Given the description of an element on the screen output the (x, y) to click on. 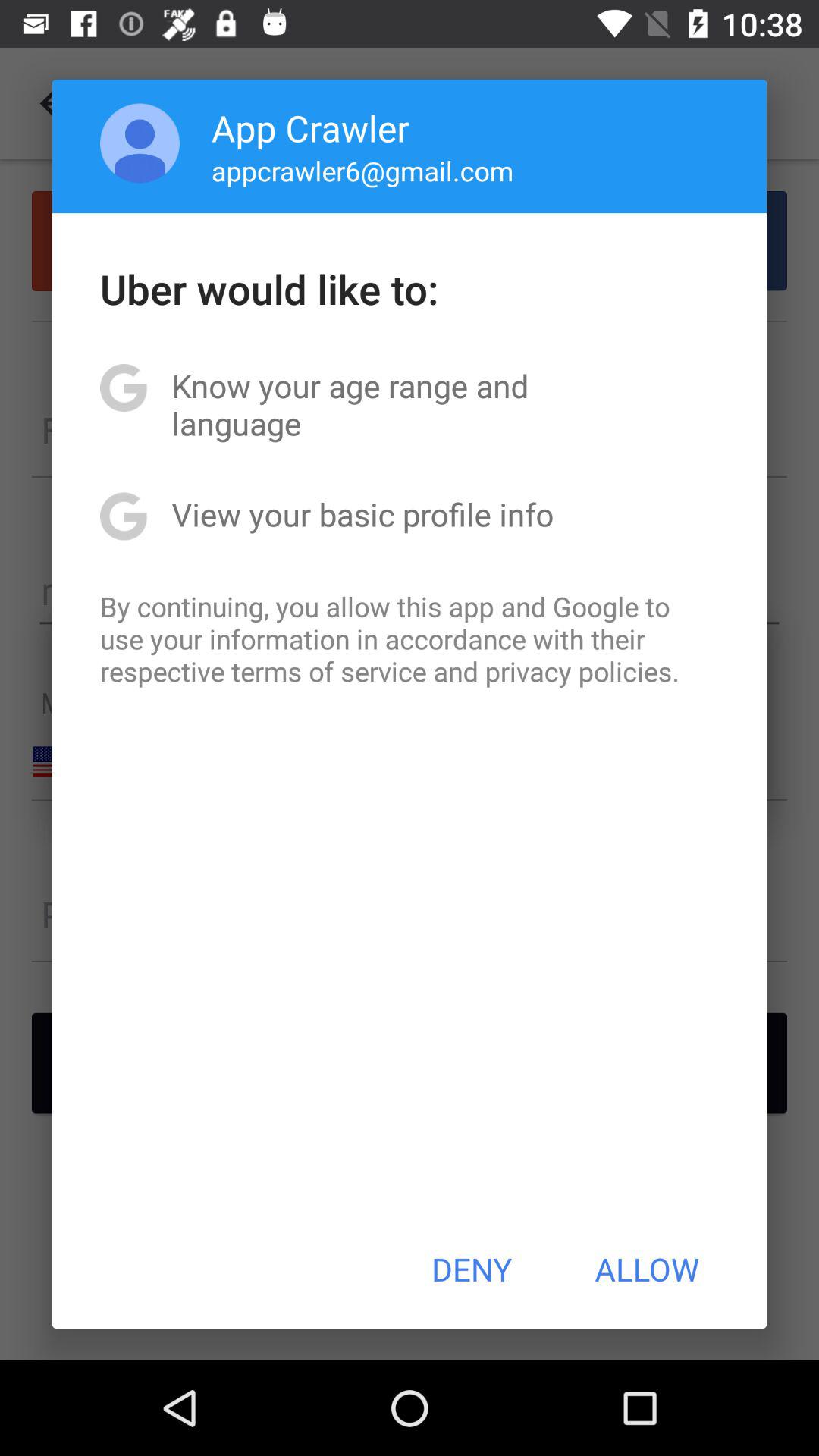
flip until the appcrawler6@gmail.com (362, 170)
